Given the description of an element on the screen output the (x, y) to click on. 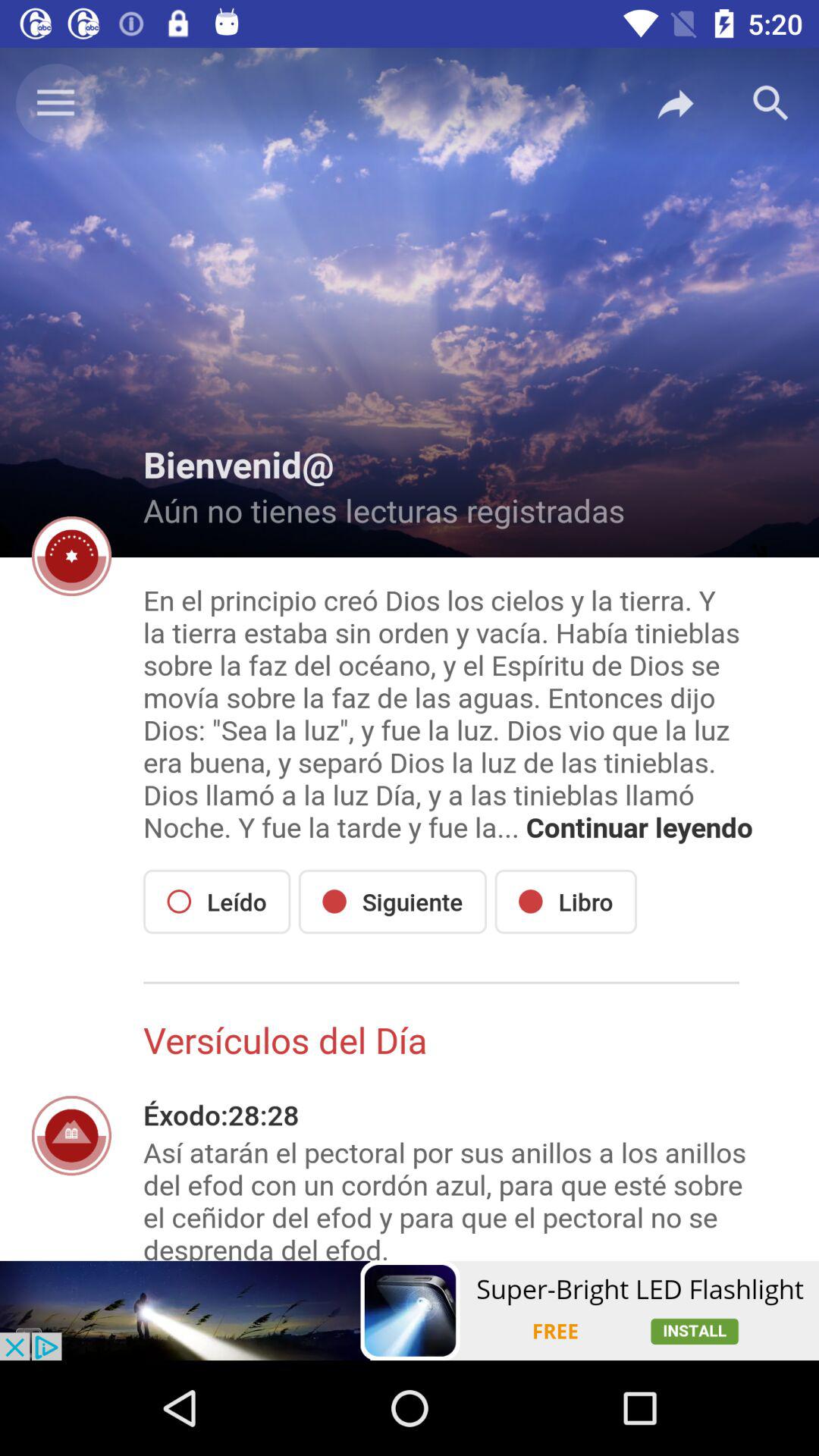
turn on the libro on the right (565, 901)
